Given the description of an element on the screen output the (x, y) to click on. 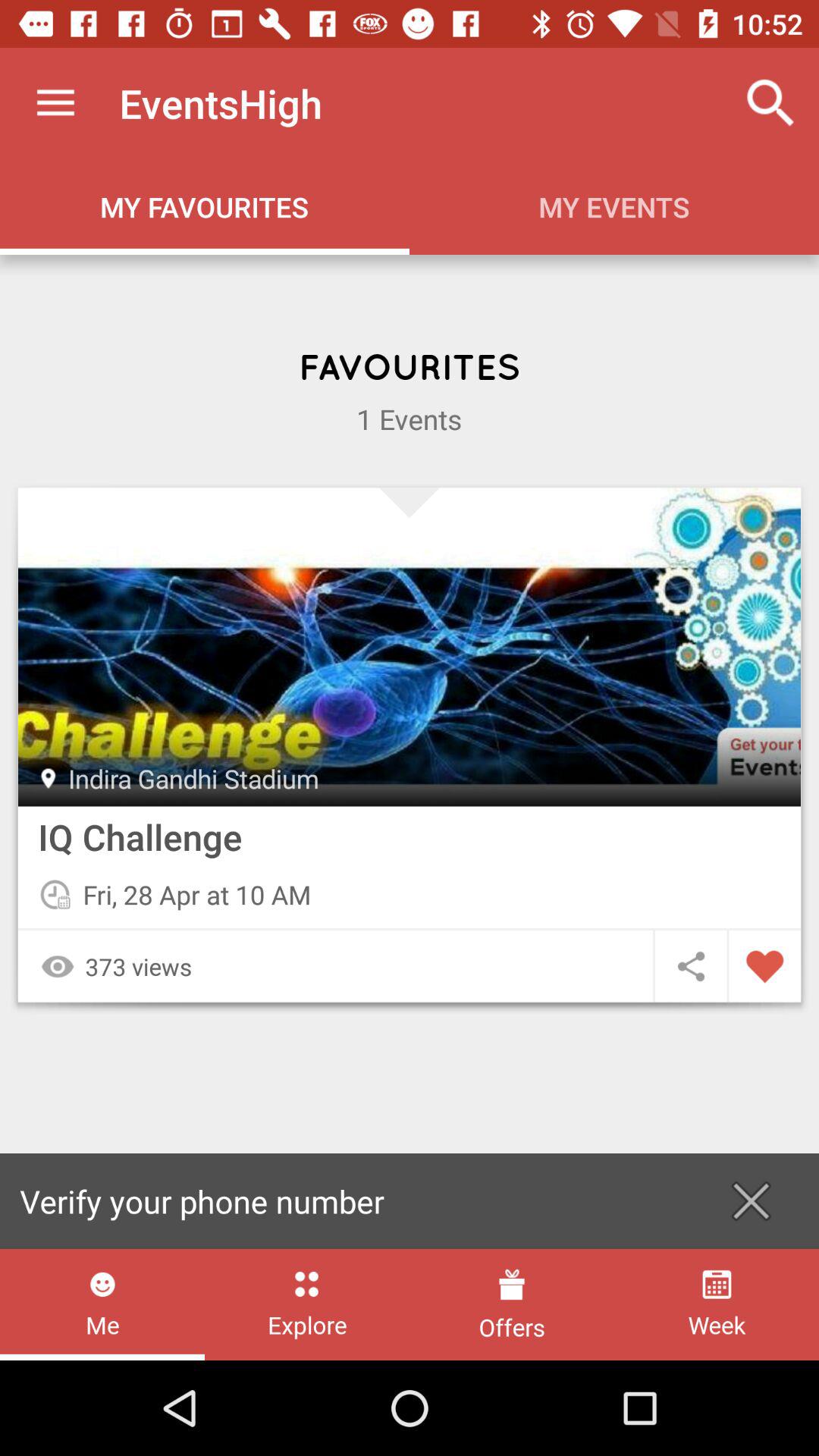
swipe until the explore item (306, 1304)
